Given the description of an element on the screen output the (x, y) to click on. 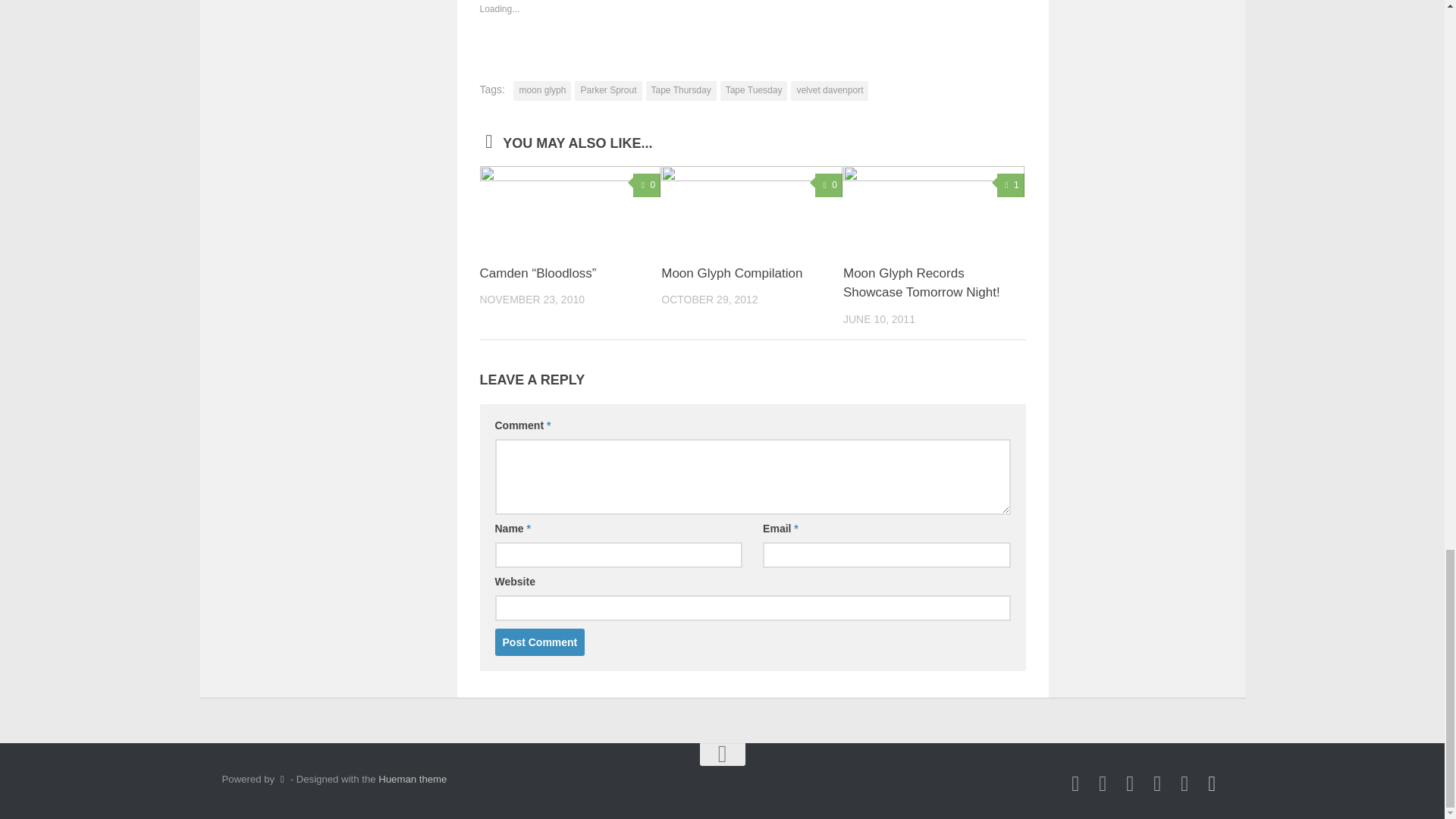
Post Comment (540, 642)
